Given the description of an element on the screen output the (x, y) to click on. 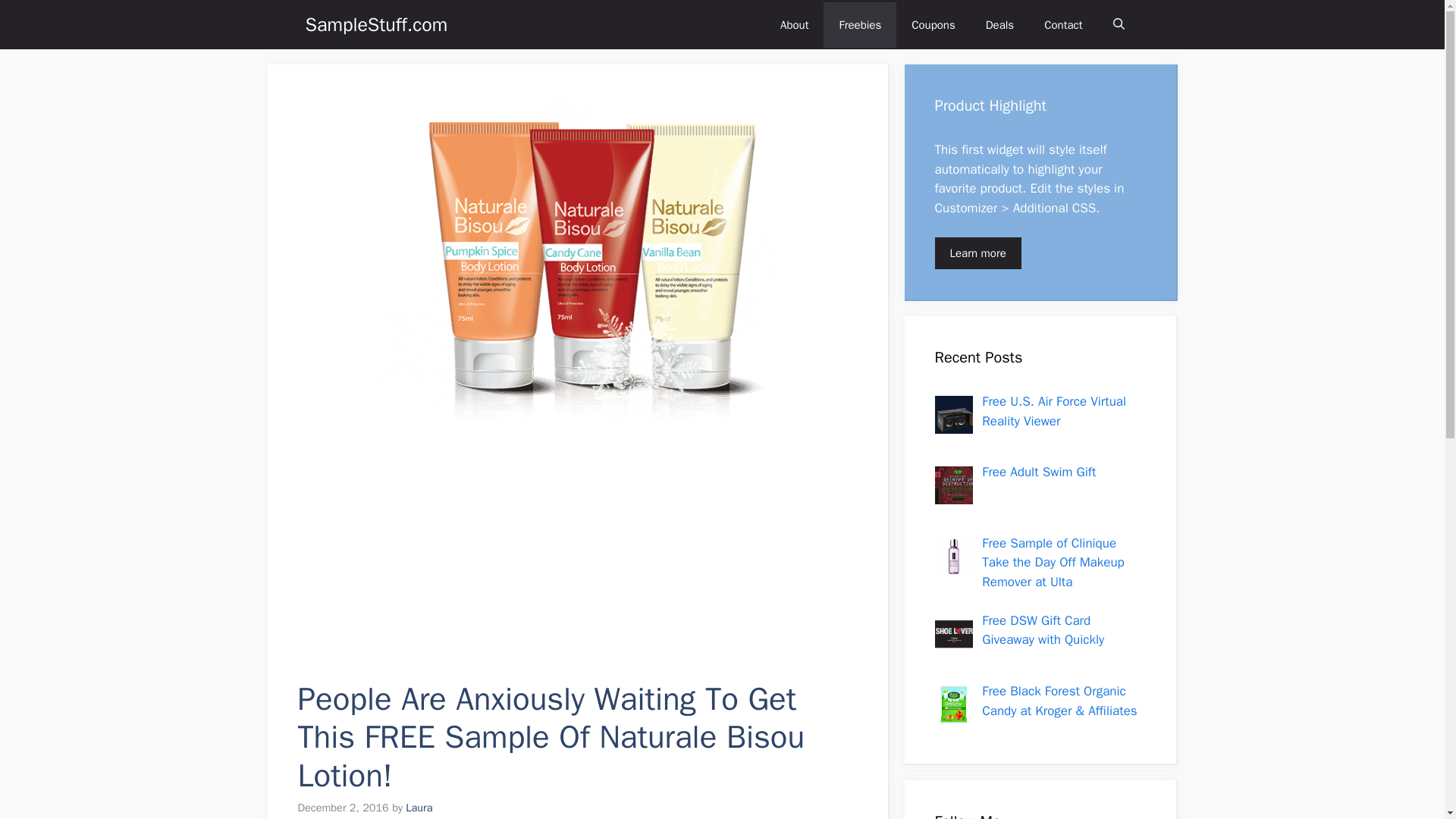
View all posts by Laura (419, 807)
Deals (1000, 23)
Freebies (860, 23)
Laura (419, 807)
Free U.S. Air Force Virtual Reality Viewer (1053, 411)
Contact (1063, 23)
Learn more (977, 252)
Coupons (933, 23)
SampleStuff.com (375, 24)
Free Adult Swim Gift (1038, 471)
About (794, 23)
Free DSW Gift Card Giveaway with Quickly (1042, 630)
